Given the description of an element on the screen output the (x, y) to click on. 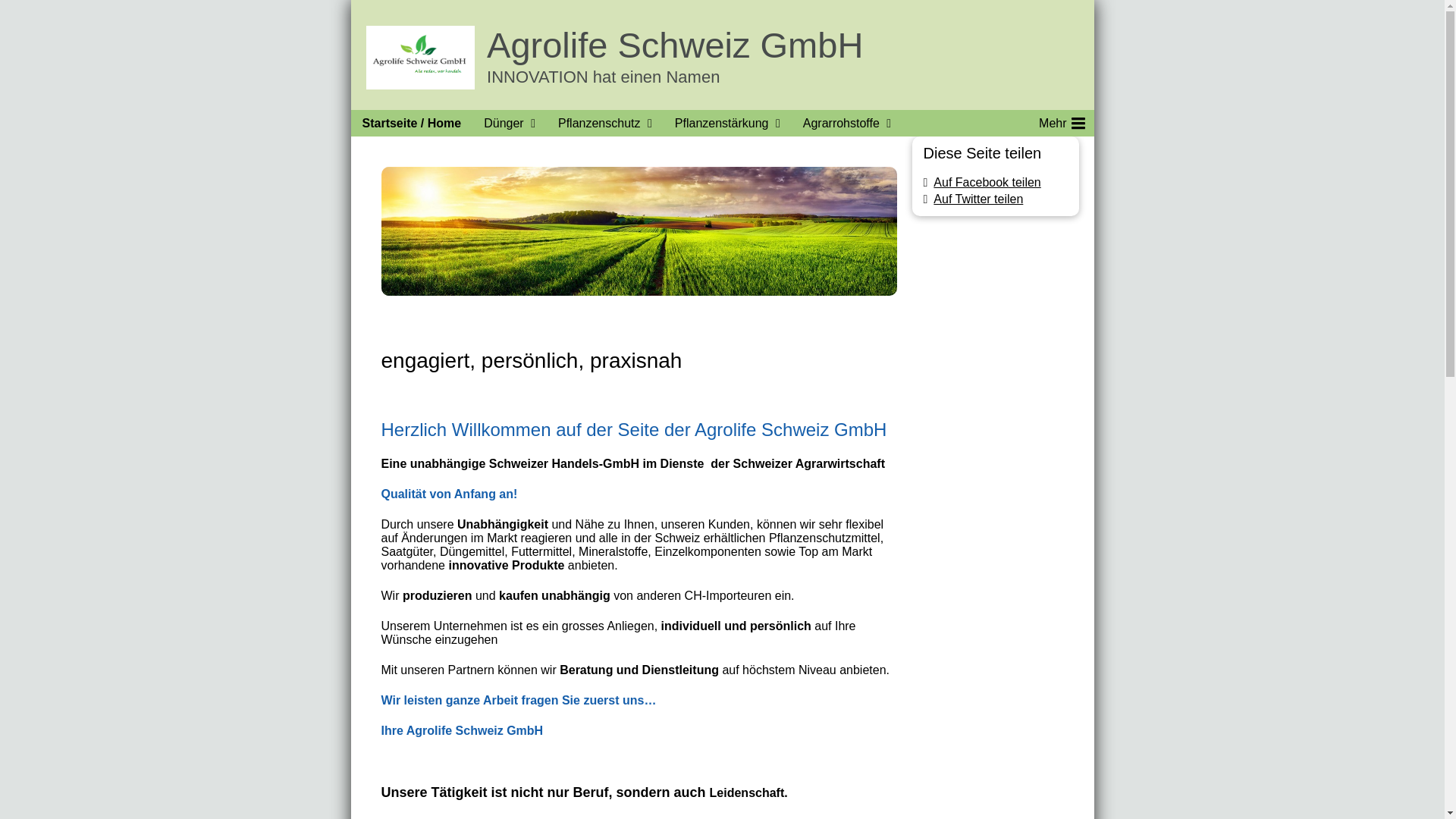
Agrolife Schweiz GmbH Element type: text (674, 44)
Pflanzenschutz Element type: text (595, 122)
Startseite / Home Element type: text (411, 122)
Agrarrohstoffe Element type: text (837, 122)
Mehr Element type: text (1060, 122)
Auf Twitter teilen Element type: text (973, 198)
Auf Facebook teilen Element type: text (982, 181)
